Given the description of an element on the screen output the (x, y) to click on. 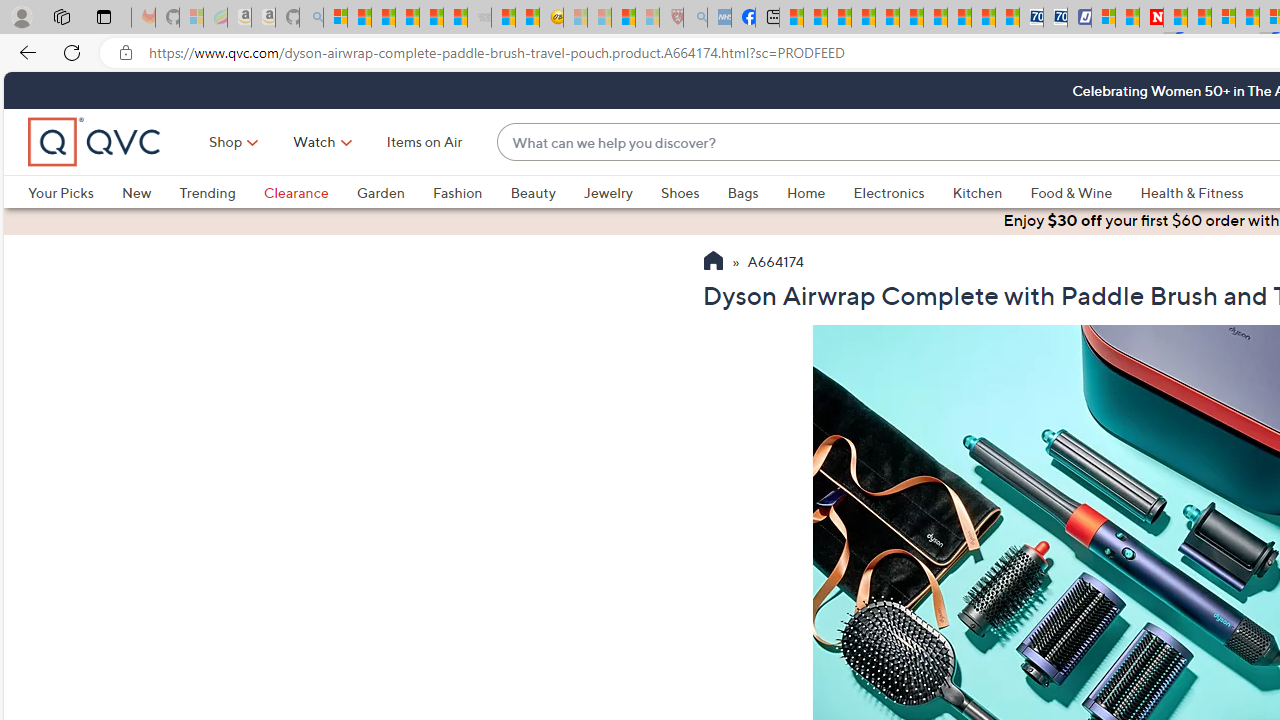
Microsoft account | Privacy (1102, 17)
Beauty (546, 192)
Cheap Car Rentals - Save70.com (1031, 17)
Robert H. Shmerling, MD - Harvard Health - Sleeping (671, 17)
Beauty (532, 192)
The Weather Channel - MSN (383, 17)
Stocks - MSN (455, 17)
Trending (207, 192)
Clearance (295, 192)
MSNBC - MSN (790, 17)
Food & Wine (1085, 192)
